Given the description of an element on the screen output the (x, y) to click on. 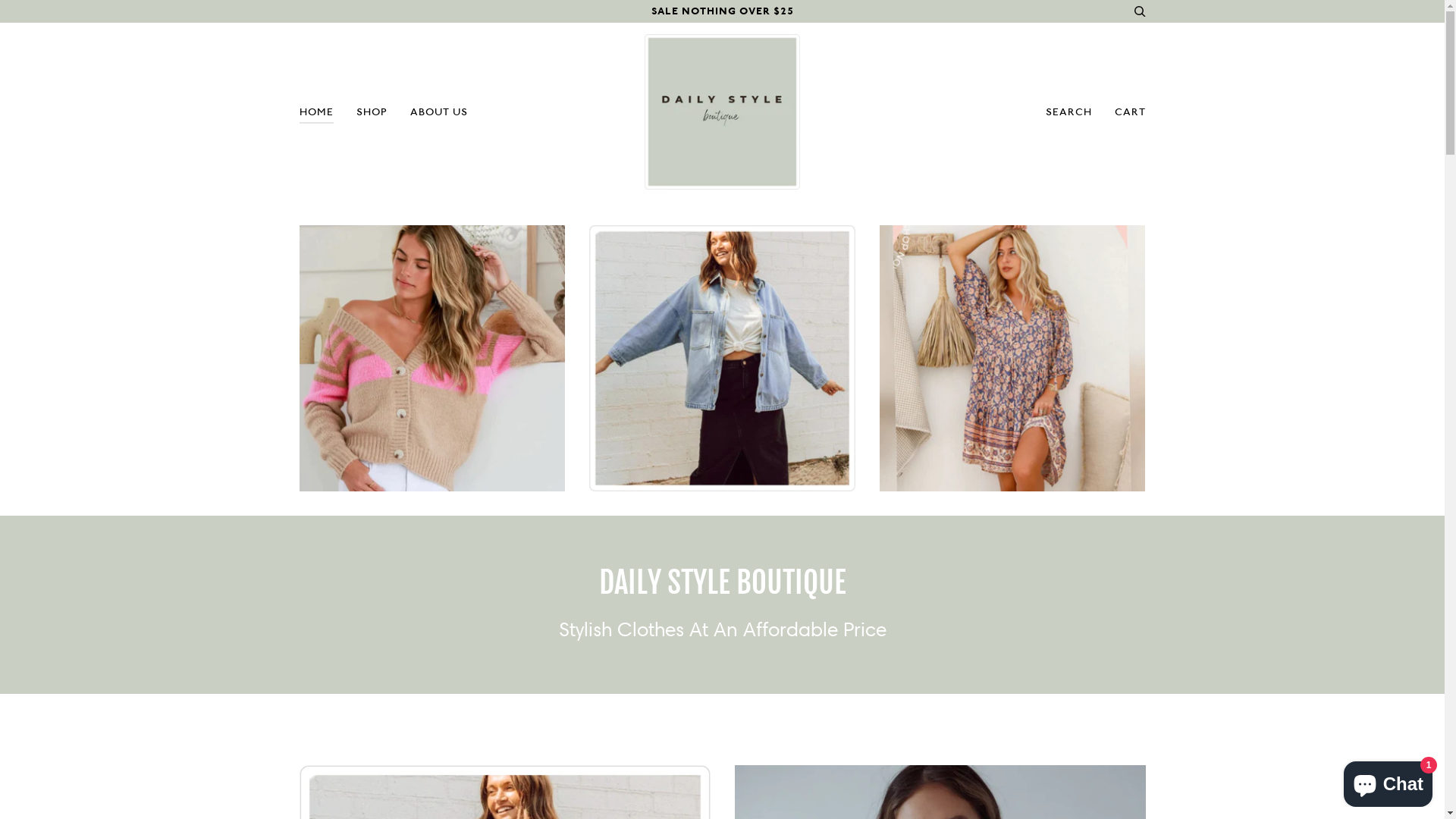
SEARCH Element type: text (1068, 111)
CART Element type: text (1129, 111)
Zoom Element type: text (431, 358)
Zoom Element type: text (722, 358)
ABOUT US Element type: text (438, 111)
SHOP Element type: text (371, 111)
Shopify online store chat Element type: hover (1388, 780)
HOME Element type: text (316, 111)
Zoom Element type: text (1012, 358)
